Given the description of an element on the screen output the (x, y) to click on. 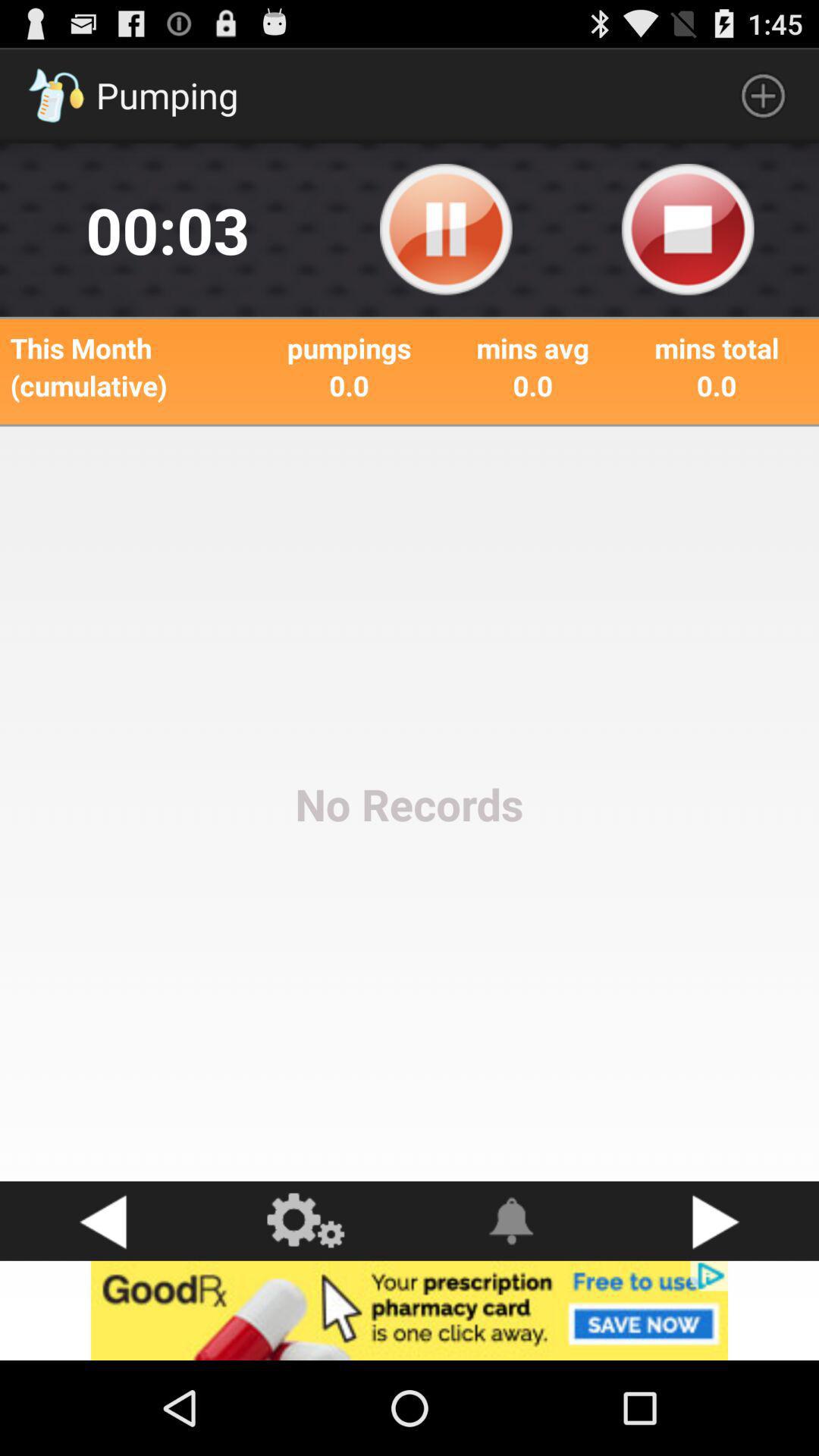
go to previous arrow (102, 1220)
